Given the description of an element on the screen output the (x, y) to click on. 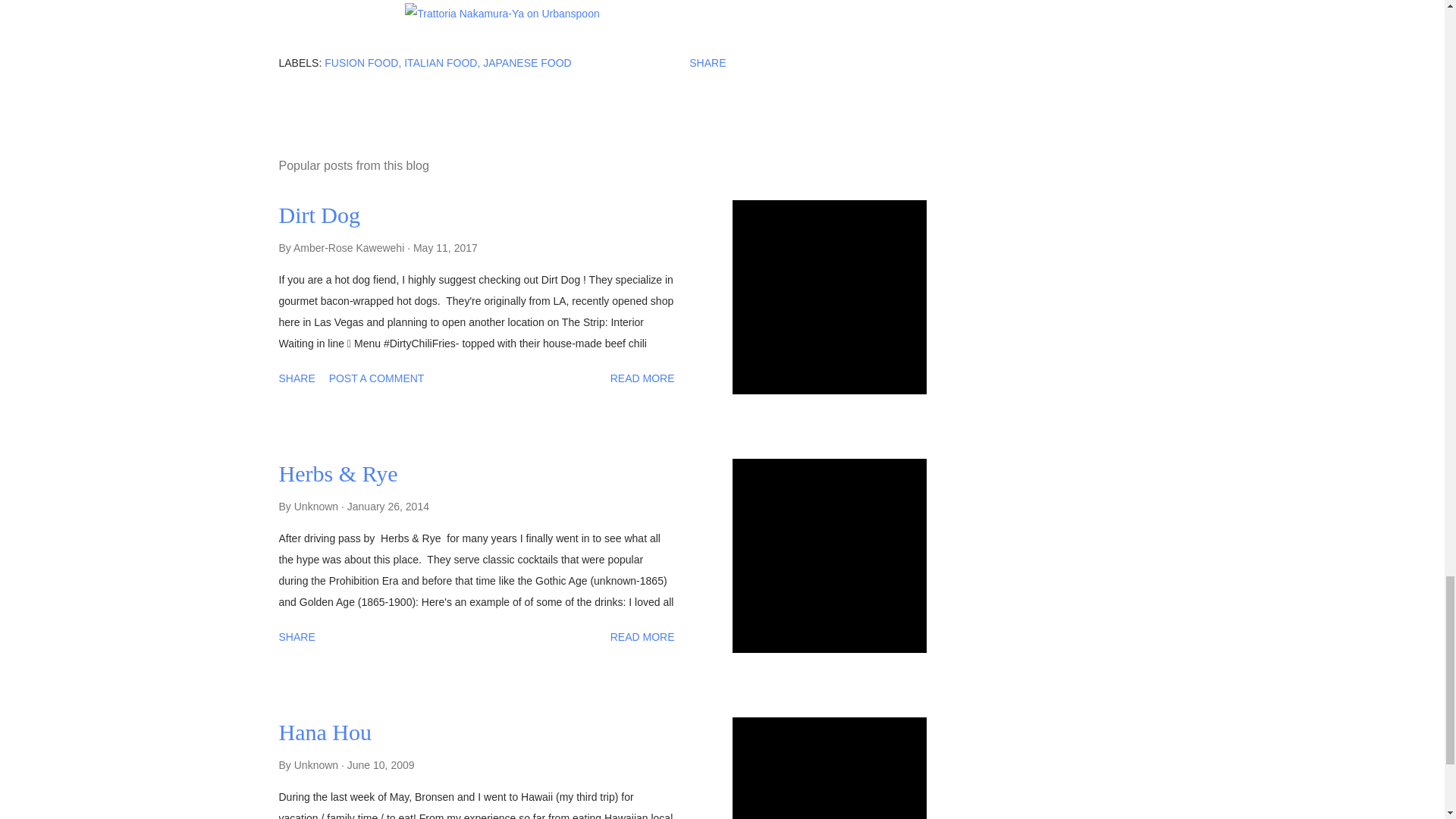
Amber-Rose Kawewehi (350, 247)
Email Post (594, 61)
author profile (350, 247)
FUSION FOOD (362, 61)
Dirt Dog (320, 213)
JAPANESE FOOD (526, 61)
SHARE (707, 61)
ITALIAN FOOD (442, 61)
May 11, 2017 (445, 247)
